Given the description of an element on the screen output the (x, y) to click on. 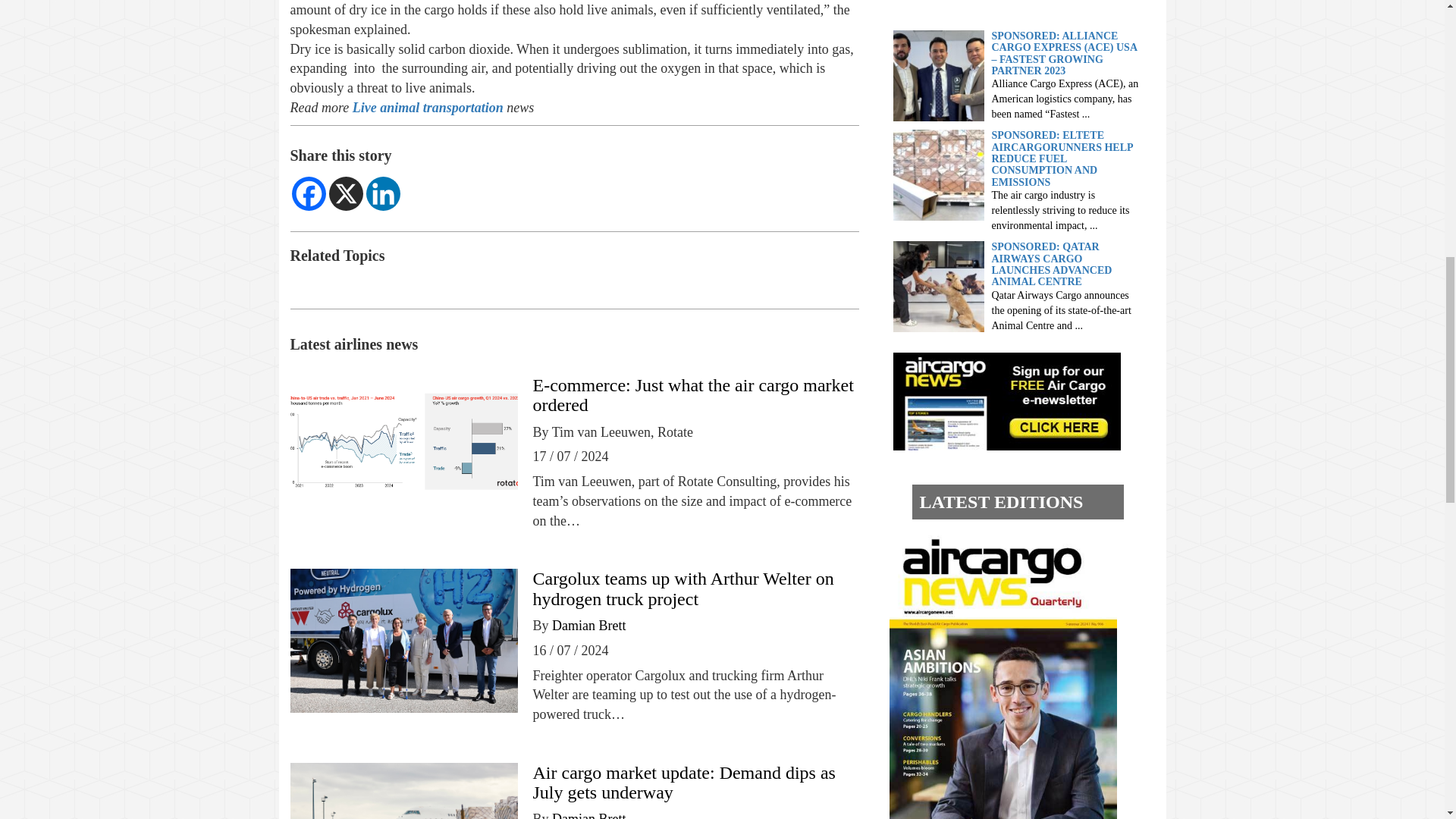
X (345, 193)
Linkedin (381, 193)
Facebook (307, 193)
3rd party ad content (1010, 5)
